Given the description of an element on the screen output the (x, y) to click on. 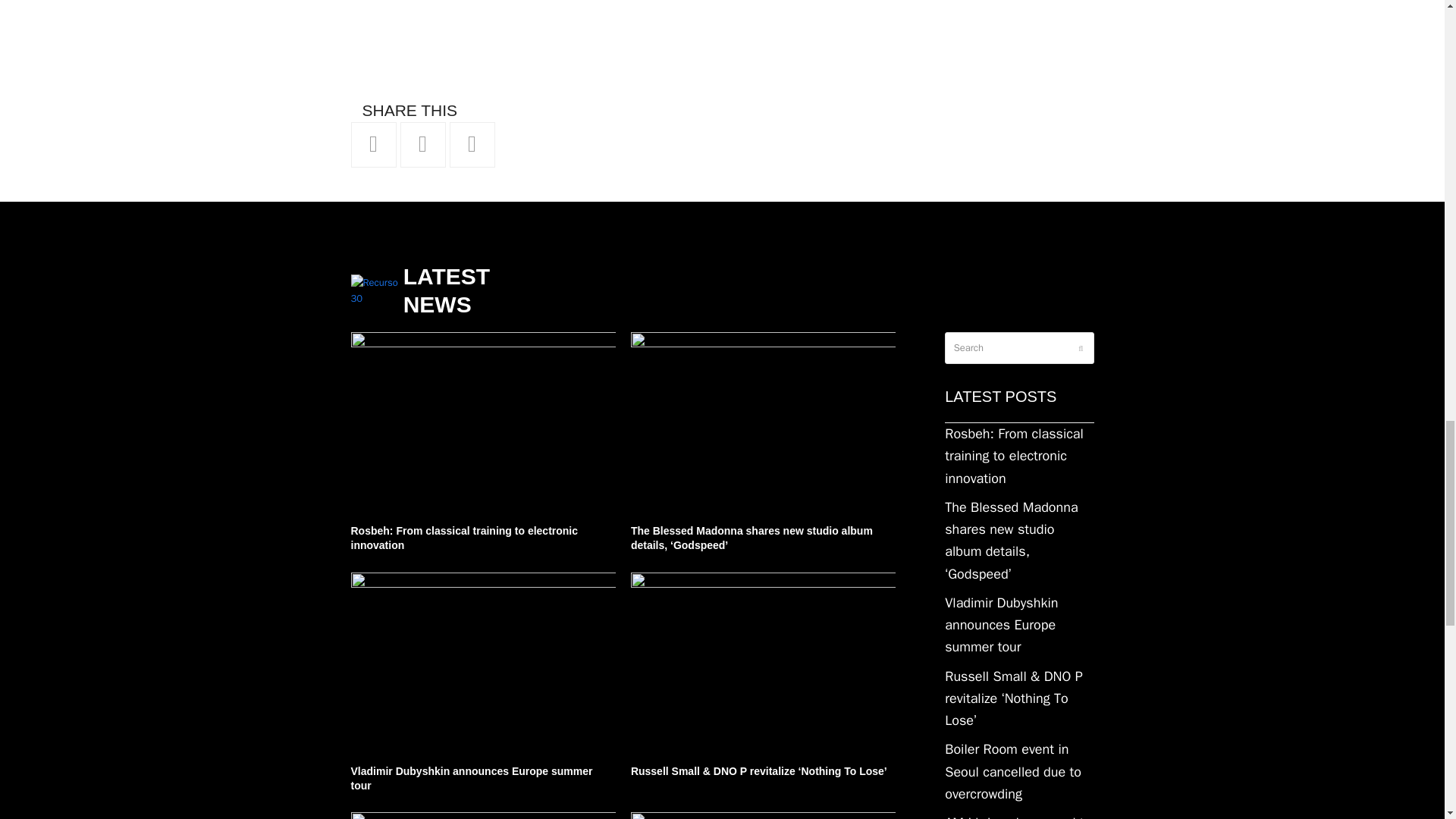
Rosbeh: From classical training to electronic innovation (482, 419)
Vladimir Dubyshkin announces Europe summer tour (471, 777)
Vladimir Dubyshkin announces Europe summer tour (482, 658)
Recurso 30 (376, 290)
Share on Twitter (373, 144)
Rosbeh: From classical training to electronic innovation (464, 537)
Vladimir Dubyshkin announces Europe summer tour (1018, 625)
Share on Pinterest (471, 144)
Share on Facebook (422, 144)
Rosbeh: From classical training to electronic innovation (1018, 456)
